Given the description of an element on the screen output the (x, y) to click on. 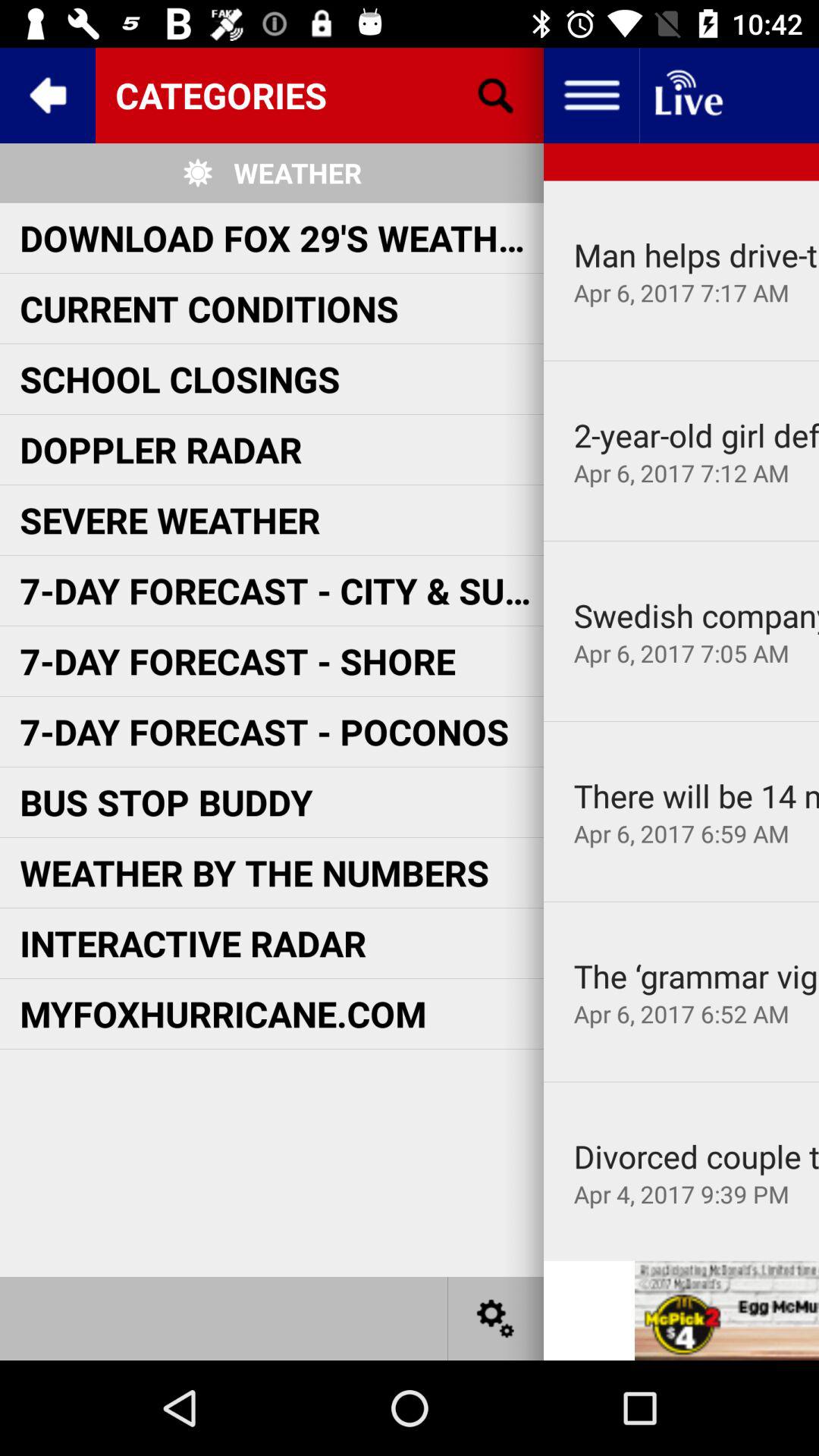
scroll until current conditions icon (208, 308)
